Given the description of an element on the screen output the (x, y) to click on. 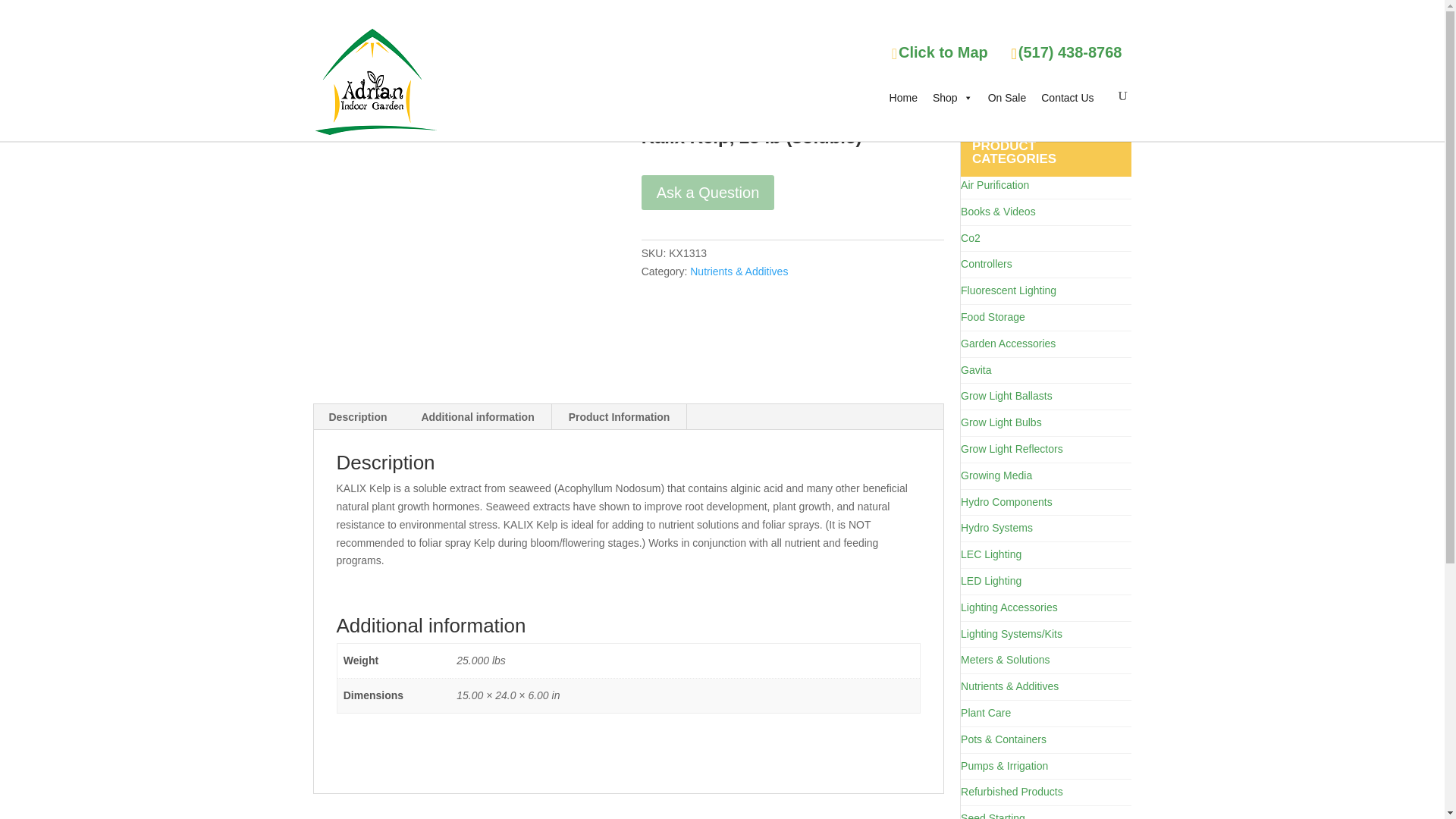
On Sale (1006, 97)
Contact Us (1066, 97)
Shop (951, 97)
Home (903, 97)
Click to Map (949, 52)
